Given the description of an element on the screen output the (x, y) to click on. 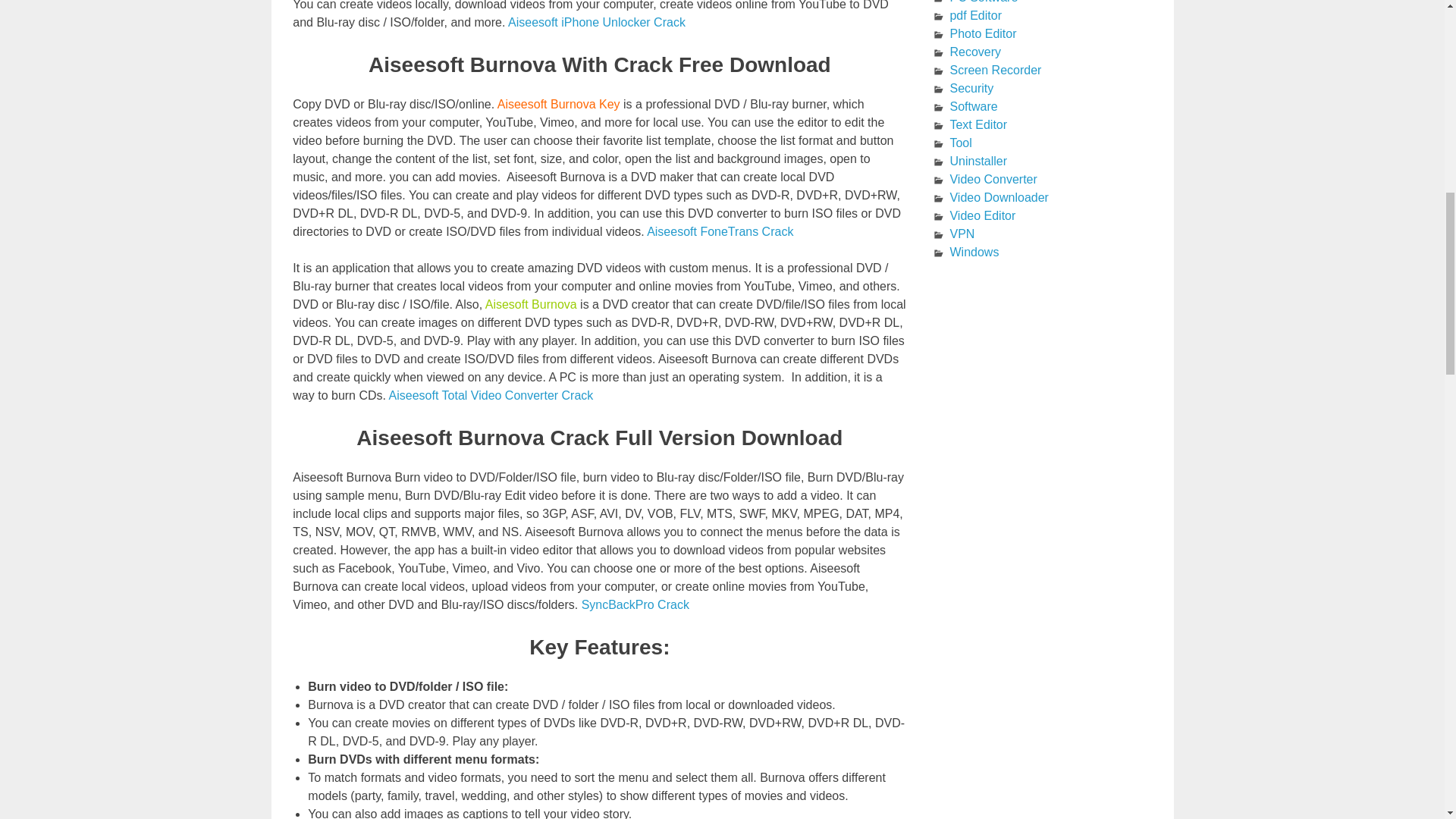
Aiseesoft FoneTrans Crack (719, 231)
Aiseesoft Burnova Key (558, 103)
Aisesoft Burnova (530, 304)
Aiseesoft Total Video Converter Crack (491, 395)
SyncBackPro Crack  (636, 604)
Aiseesoft iPhone Unlocker Crack  (598, 21)
